Given the description of an element on the screen output the (x, y) to click on. 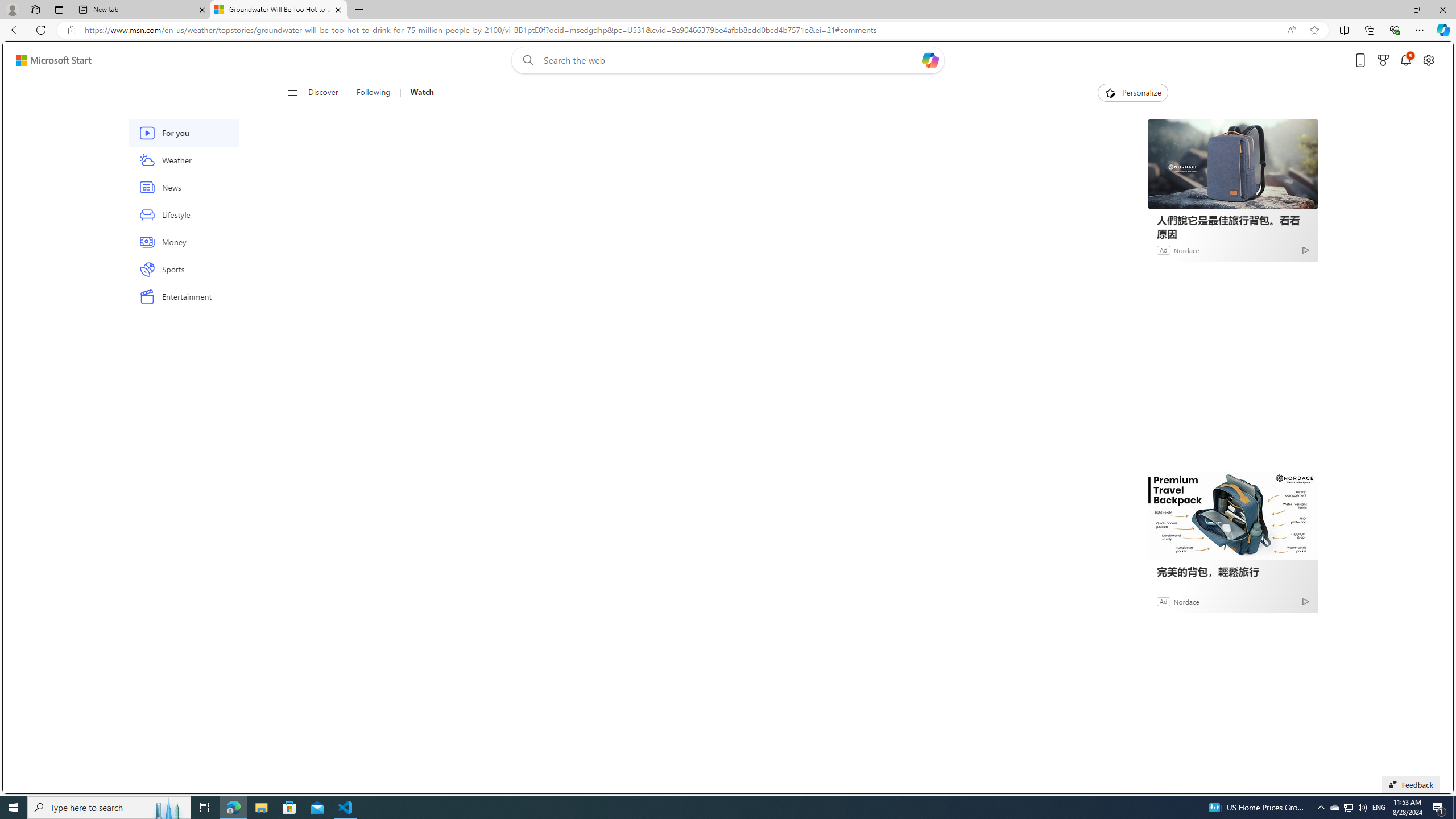
Open settings (1427, 60)
Enter your search term (730, 59)
